Given the description of an element on the screen output the (x, y) to click on. 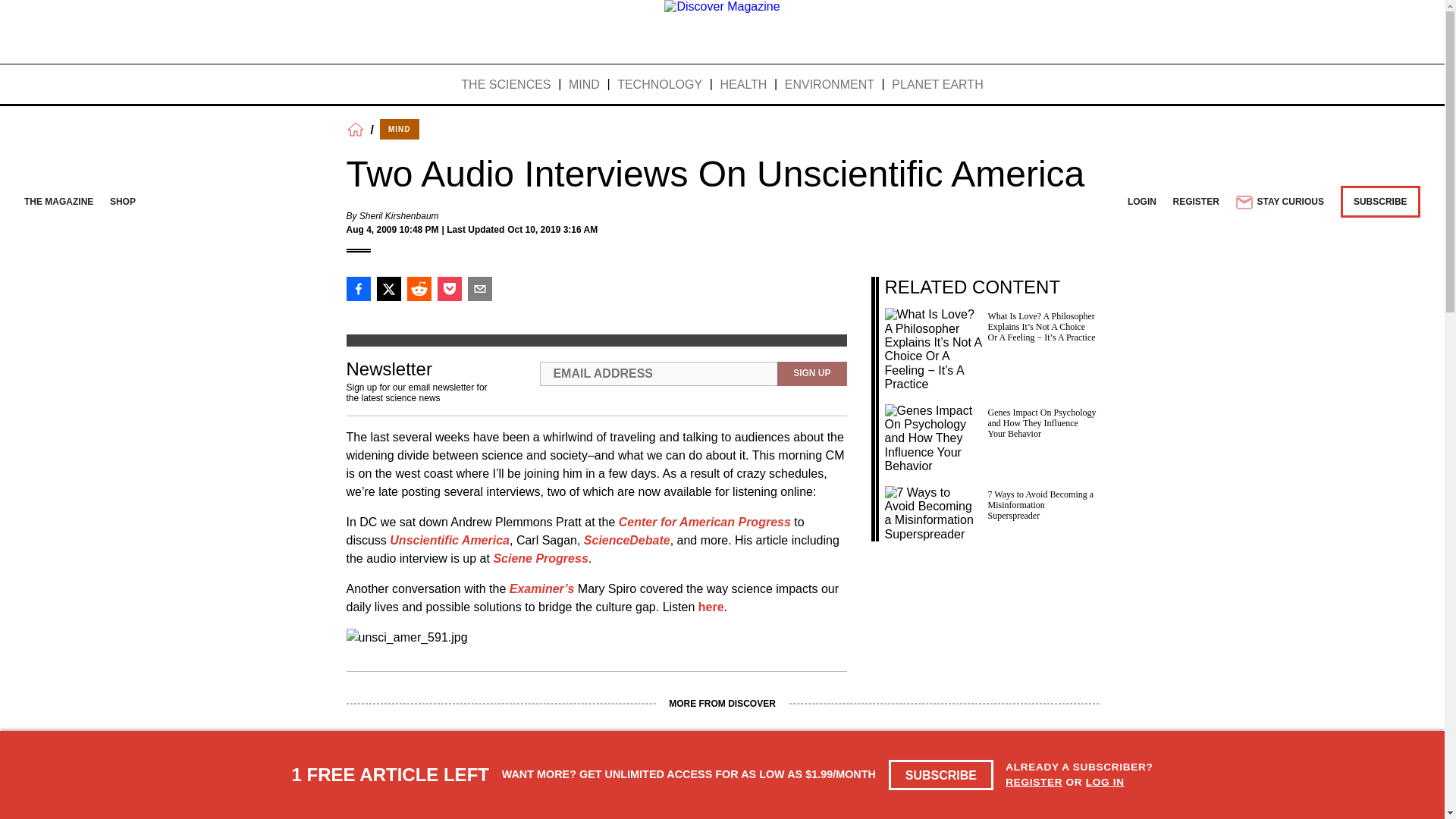
MIND (584, 84)
SHOP (122, 201)
SIGN UP (811, 373)
ENVIRONMENT (829, 84)
THE MAGAZINE (58, 201)
LOG IN (1105, 781)
here (710, 606)
LOGIN (1141, 201)
Sciene Progress (540, 558)
Sheril Kirshenbaum (399, 215)
